Given the description of an element on the screen output the (x, y) to click on. 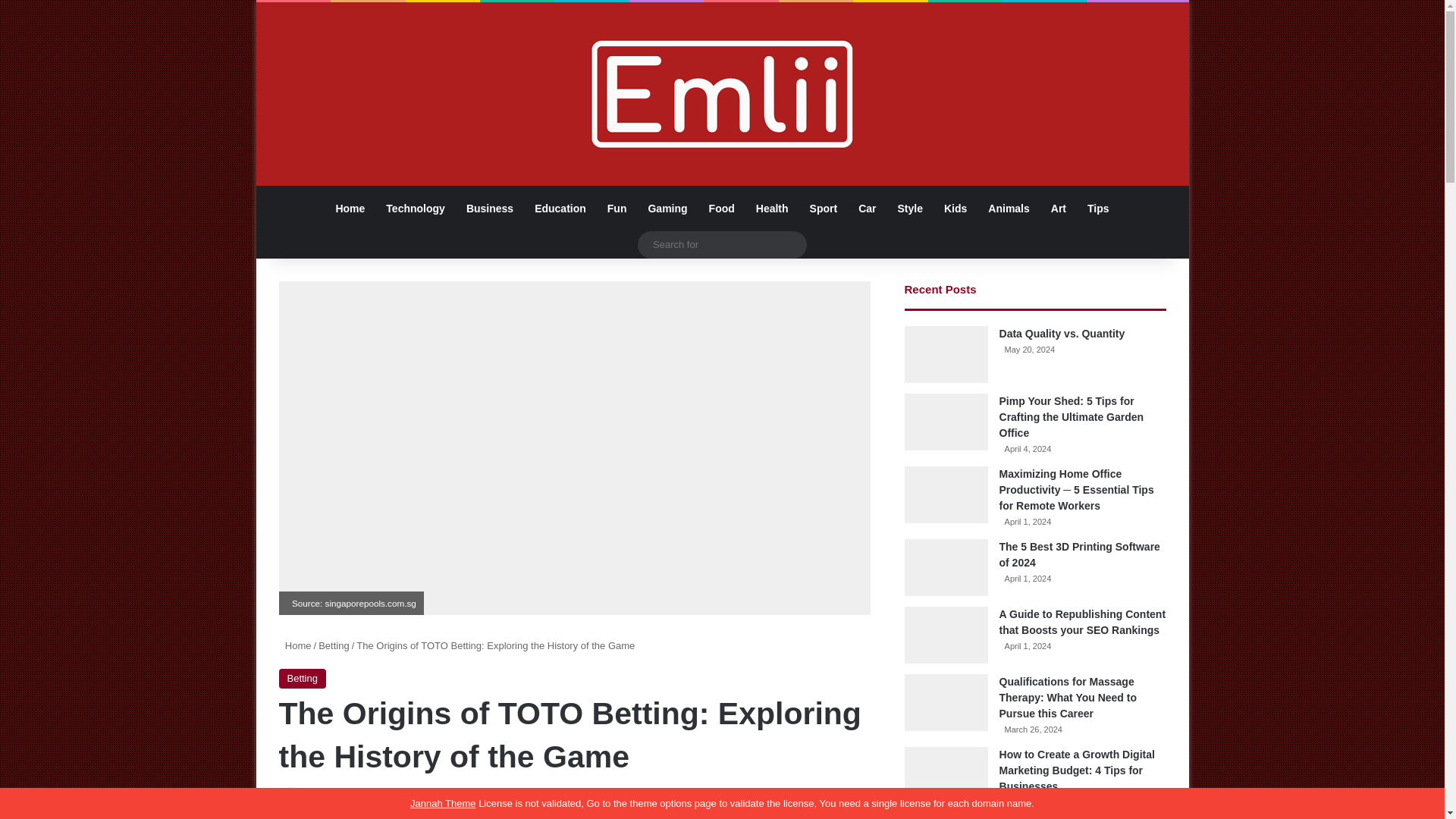
Emlii (721, 93)
Jannah Theme (443, 803)
Home (349, 207)
Betting (333, 645)
Sport (823, 207)
Search for (791, 244)
Hamza Quest (334, 799)
Health (772, 207)
Fun (616, 207)
Hamza Quest (334, 799)
